Given the description of an element on the screen output the (x, y) to click on. 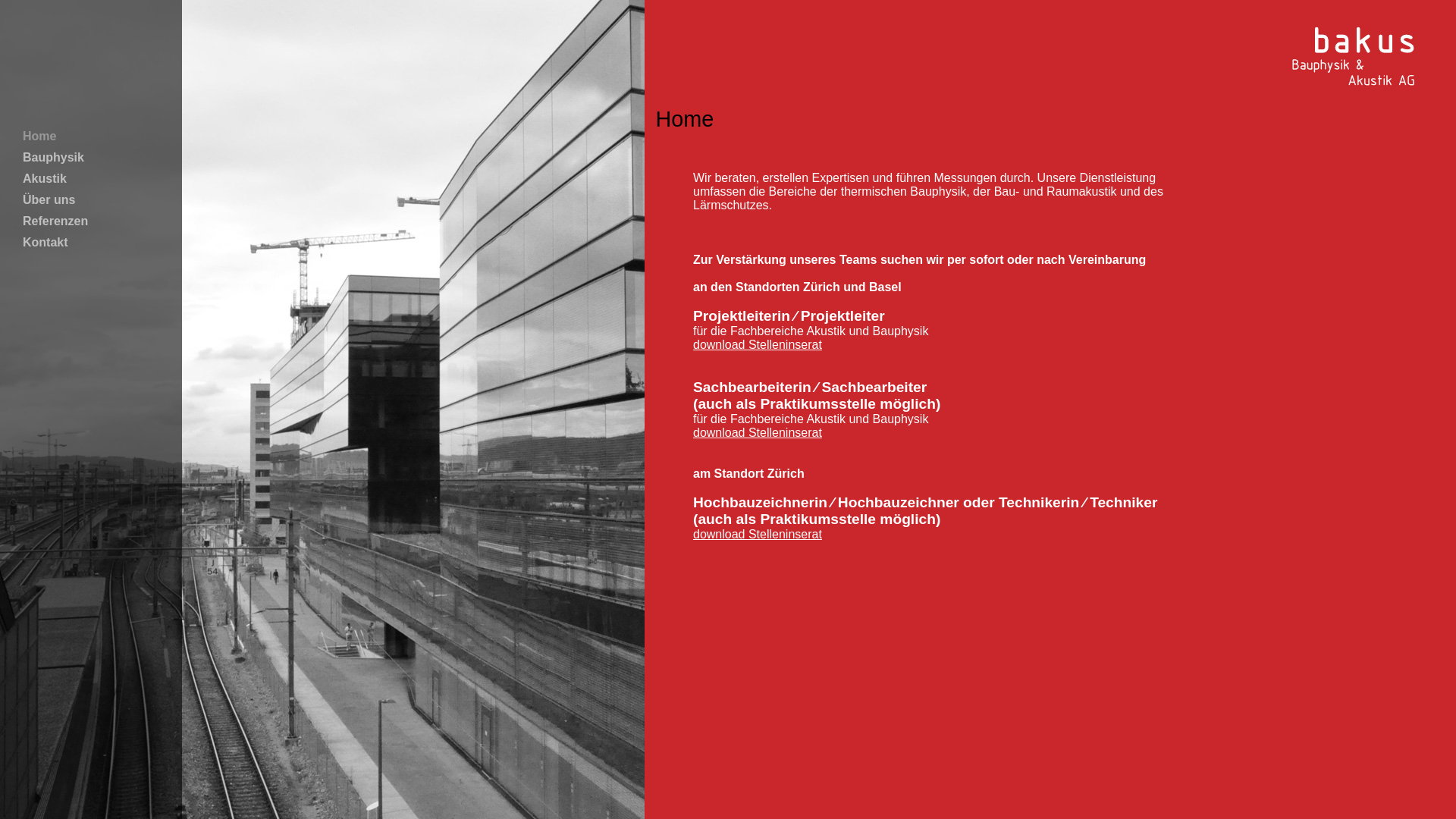
Kontakt Element type: text (45, 242)
download Stelleninserat Element type: text (757, 432)
download Stelleninserat Element type: text (757, 533)
Akustik Element type: text (44, 178)
download Stelleninserat Element type: text (757, 344)
Referenzen Element type: text (54, 220)
Bauphysik Element type: text (53, 157)
